Given the description of an element on the screen output the (x, y) to click on. 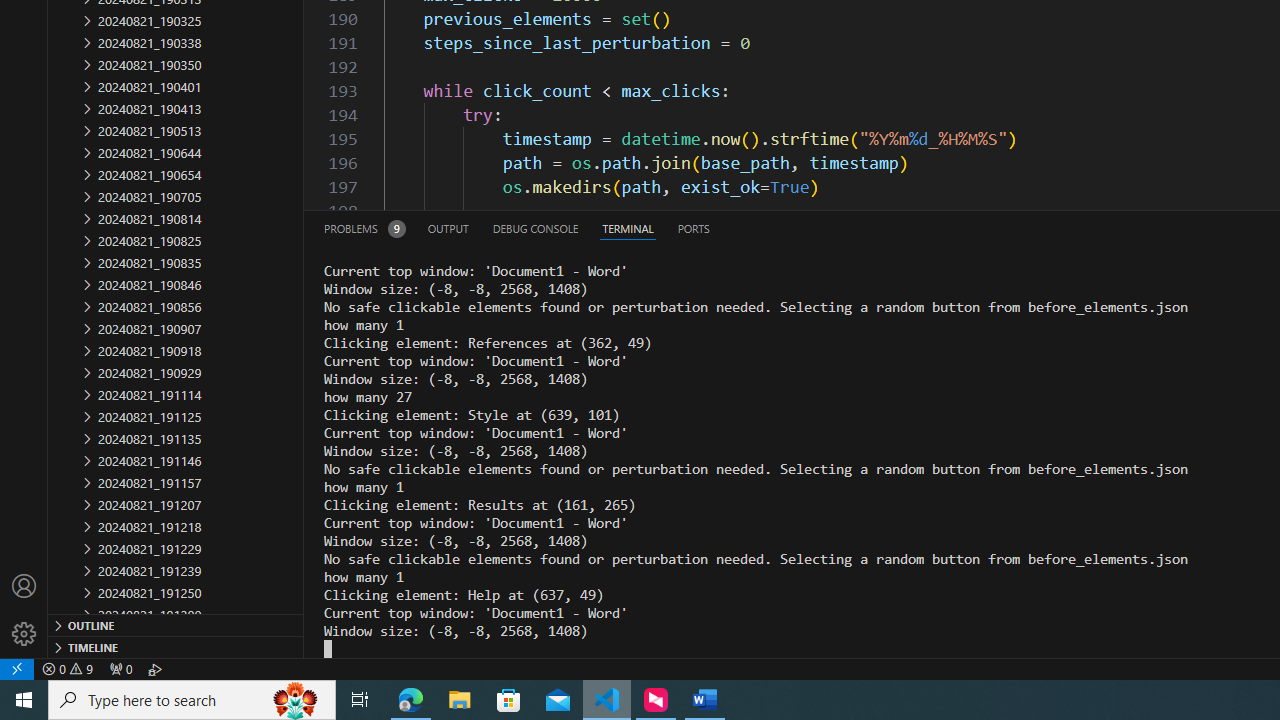
remote (17, 668)
Timeline Section (175, 646)
Debug Console (Ctrl+Shift+Y) (535, 228)
Warnings: 9 (67, 668)
Output (Ctrl+Shift+U) (447, 228)
Debug:  (155, 668)
Ports (693, 228)
Manage (24, 610)
No Ports Forwarded (120, 668)
Terminal (Ctrl+`) (627, 228)
Problems (Ctrl+Shift+M) - Total 9 Problems (364, 228)
Accounts (24, 585)
Manage (24, 633)
Outline Section (175, 624)
